Given the description of an element on the screen output the (x, y) to click on. 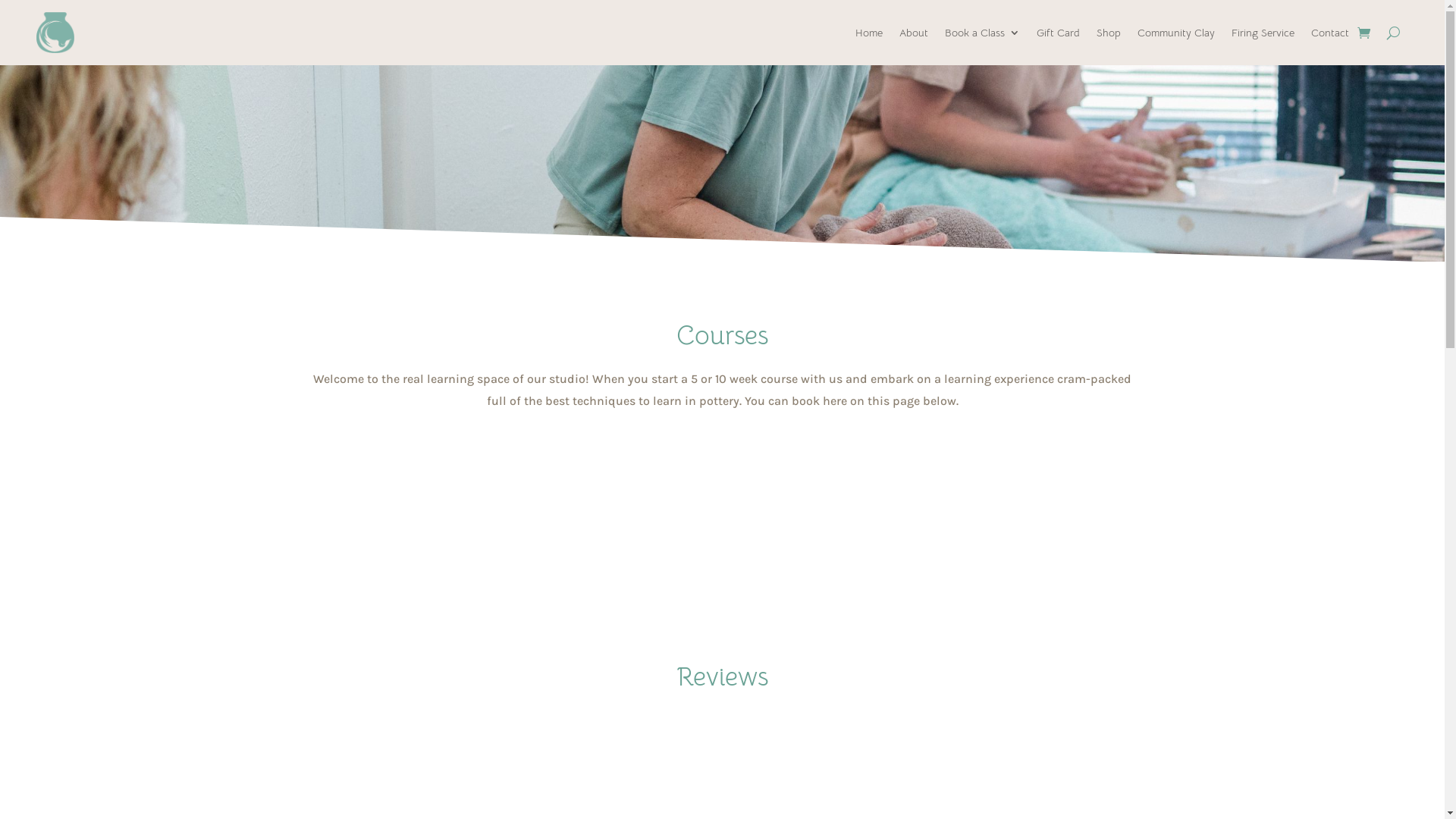
Community Clay Element type: text (1175, 32)
Shop Element type: text (1108, 32)
Book a Class Element type: text (981, 32)
Firing Service Element type: text (1262, 32)
Gift Card Element type: text (1057, 32)
About Element type: text (913, 32)
Contact Element type: text (1330, 32)
Home Element type: text (868, 32)
